Given the description of an element on the screen output the (x, y) to click on. 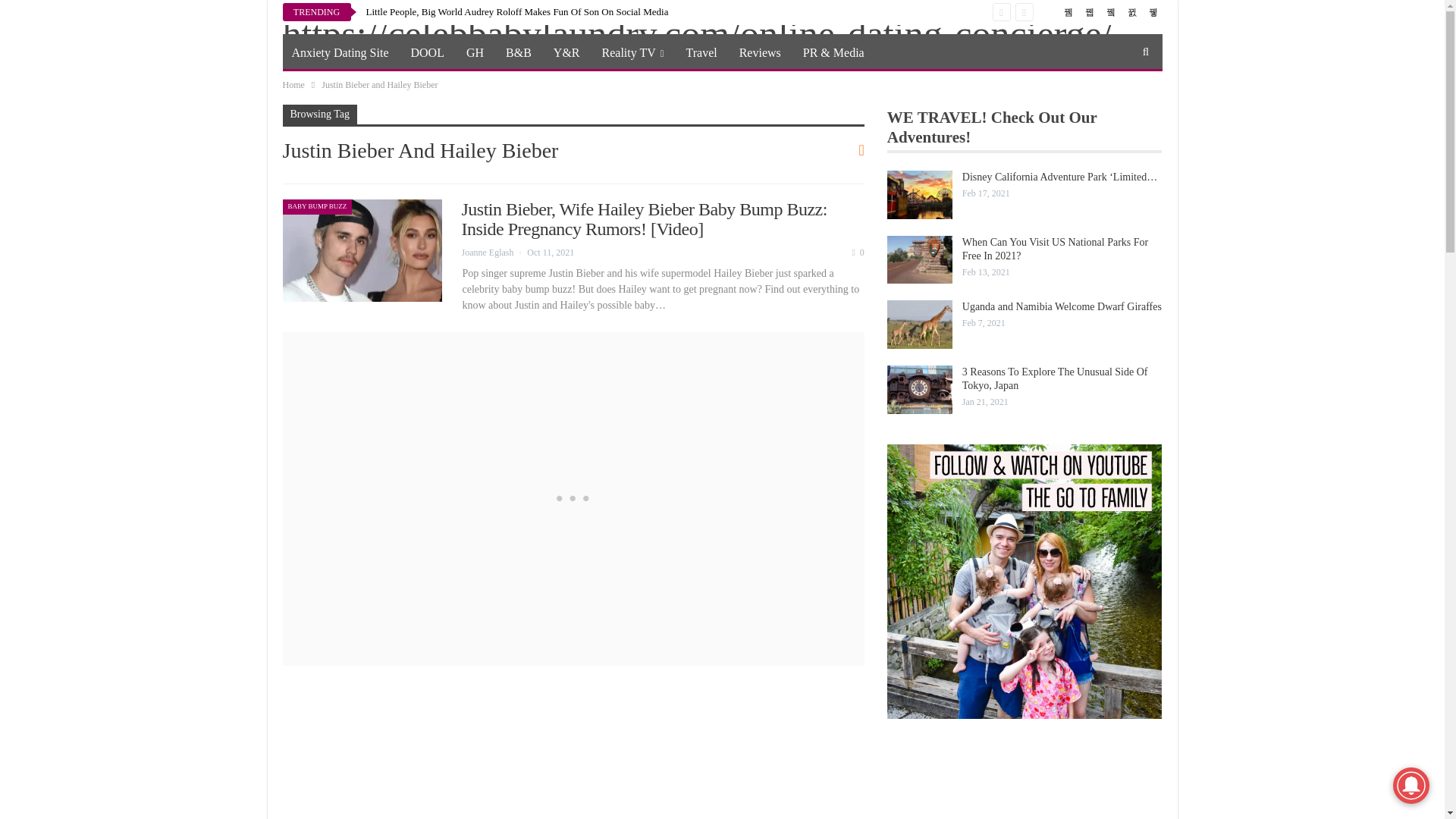
Reviews (760, 53)
BABY BUMP BUZZ (317, 206)
Travel (701, 53)
DOOL (426, 53)
3 Reasons To Explore The Unusual Side Of Tokyo, Japan (919, 389)
When Can You Visit US National Parks For Free In 2021? (919, 259)
Reality TV (632, 53)
Anxiety Dating Site (339, 53)
GH (475, 53)
Browse Author Articles (494, 252)
Home (293, 84)
Uganda and Namibia Welcome Dwarf Giraffes (919, 324)
